Given the description of an element on the screen output the (x, y) to click on. 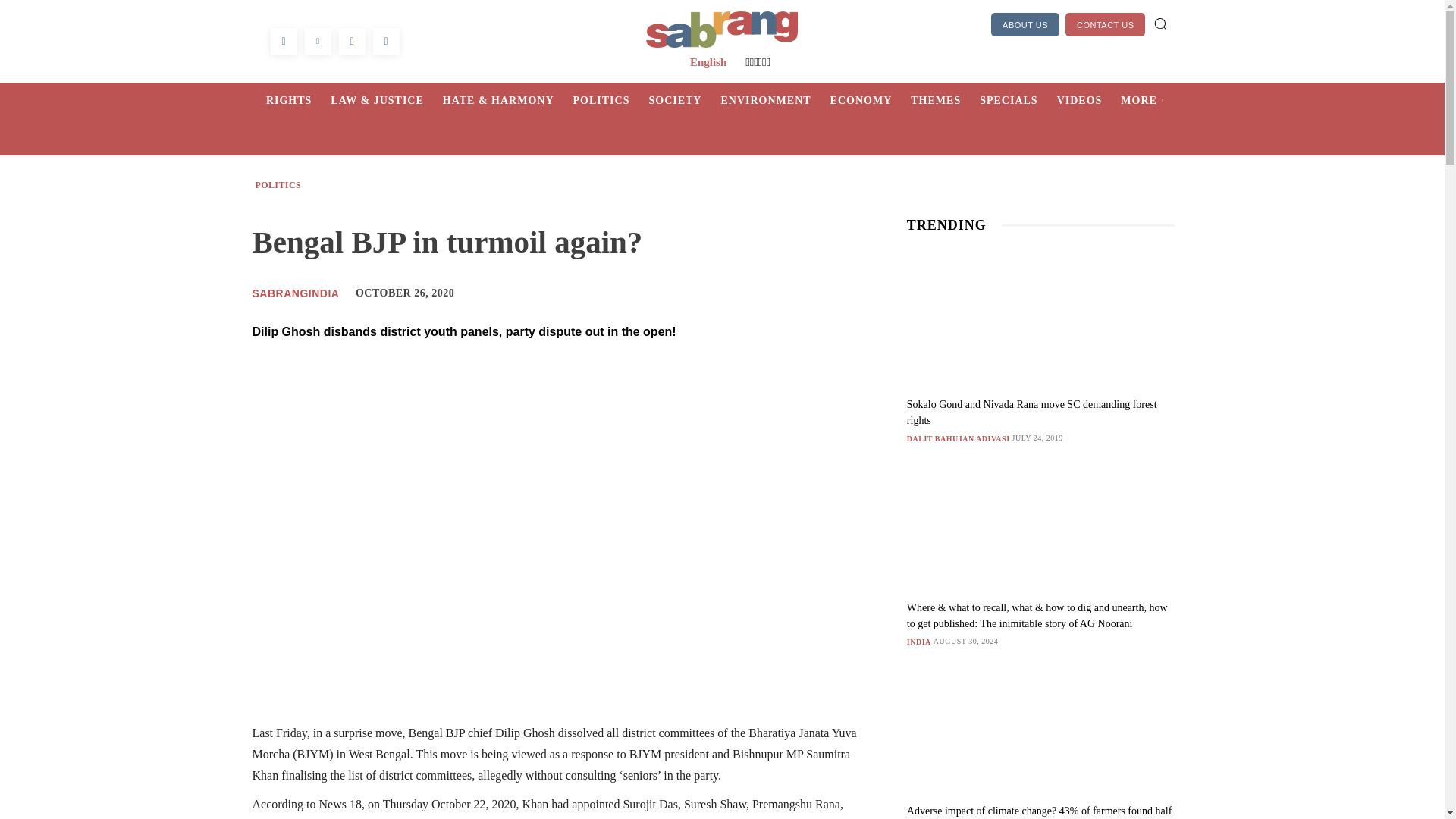
WhatsApp (351, 40)
English (708, 61)
Sokalo Gond and Nivada Rana move SC demanding forest rights (1032, 411)
Twitter (317, 40)
SOCIETY (683, 100)
POLITICS (611, 100)
ENVIRONMENT (774, 100)
ABOUT US (1025, 24)
Facebook (283, 40)
THEMES (945, 100)
